Given the description of an element on the screen output the (x, y) to click on. 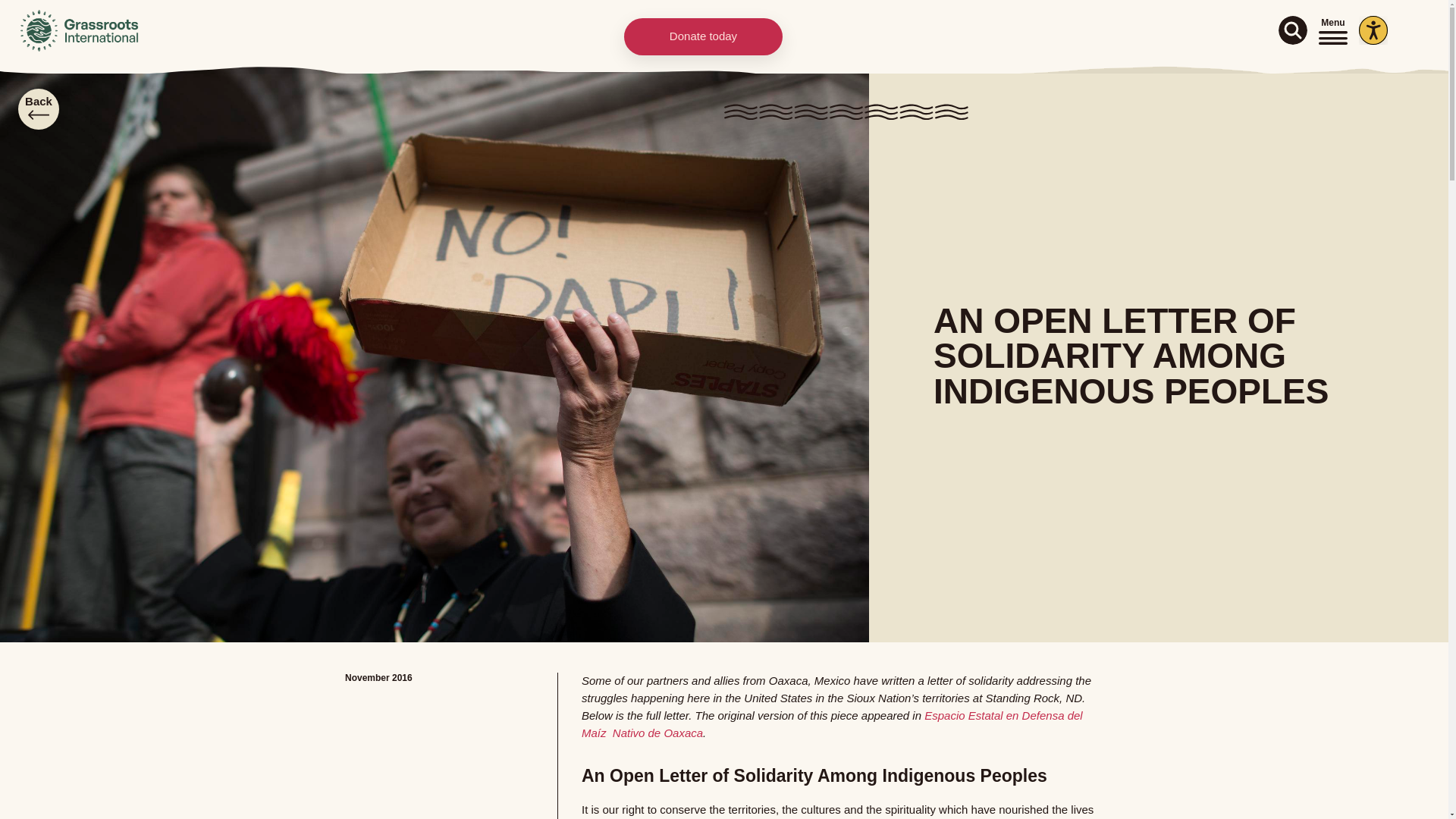
Donate today (703, 36)
Search (1292, 30)
Accesibility (1372, 30)
Menu (1333, 30)
Back (38, 109)
